Given the description of an element on the screen output the (x, y) to click on. 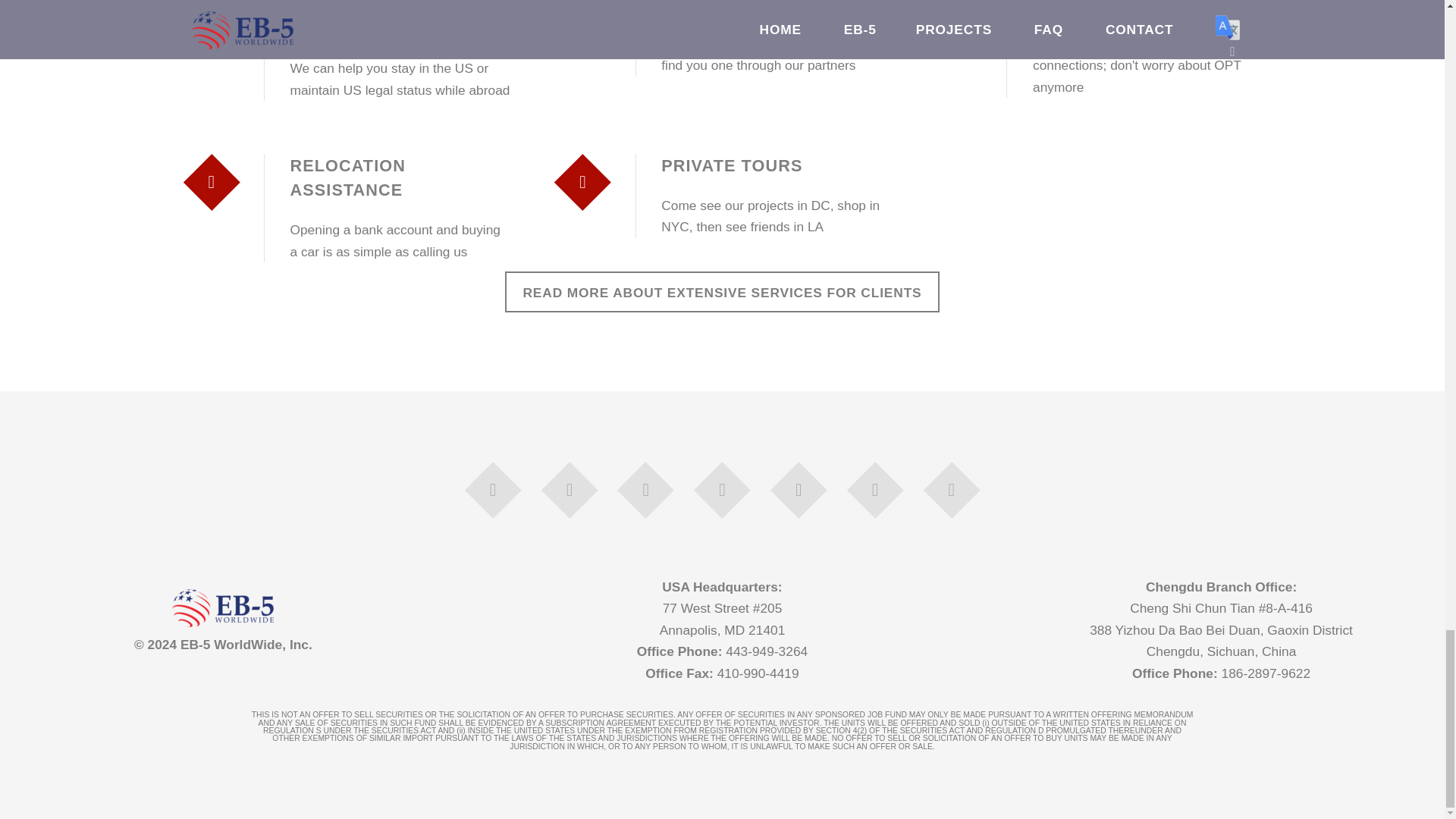
Sina Weibo (721, 490)
Mail us (875, 490)
WeChat (798, 490)
LinkedIn (569, 490)
News (951, 490)
Twitter (645, 490)
READ MORE ABOUT EXTENSIVE SERVICES FOR CLIENTS (722, 291)
Facebook (493, 490)
